Given the description of an element on the screen output the (x, y) to click on. 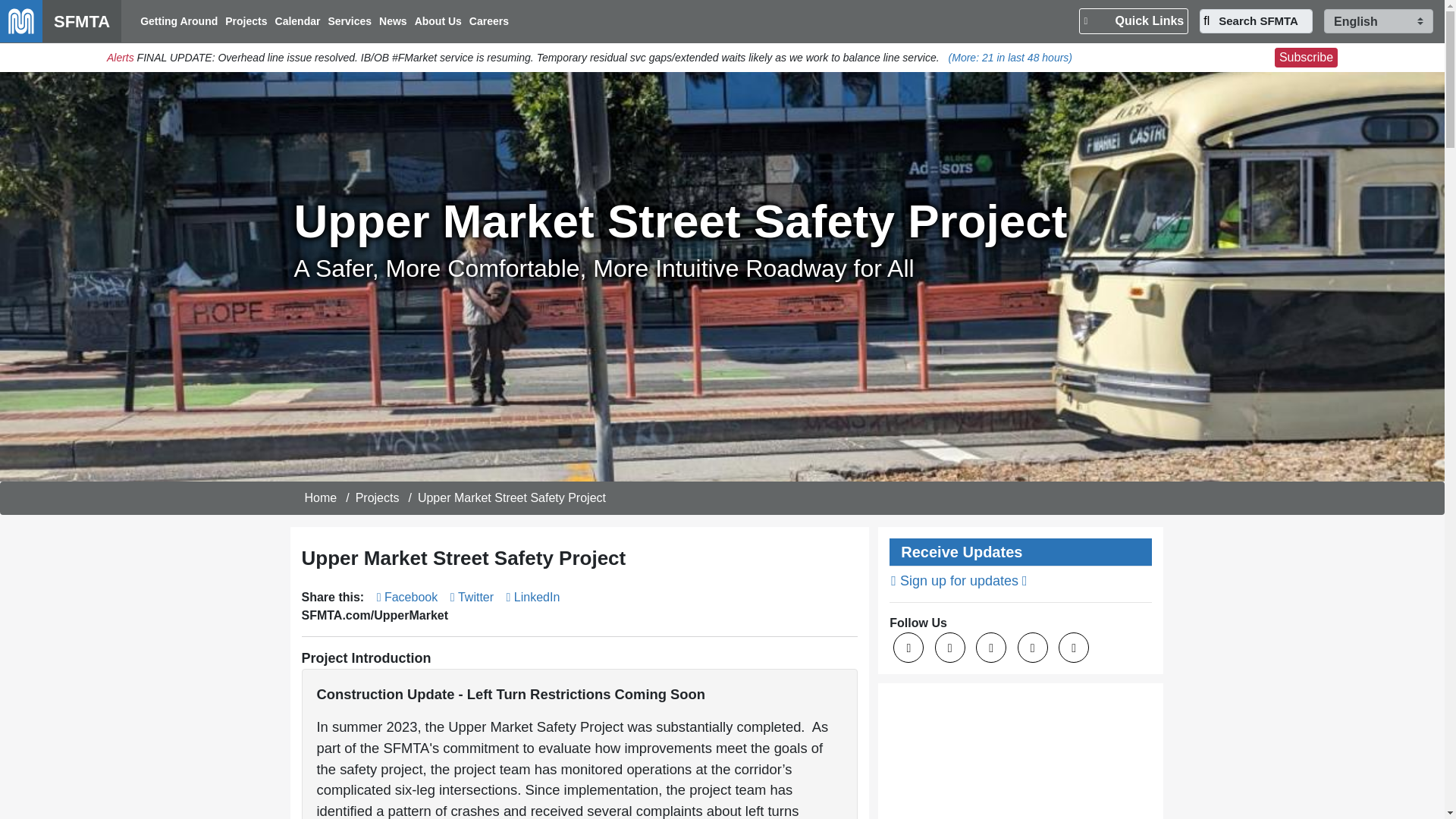
Projects (376, 497)
SFMTA (60, 21)
Services (349, 21)
Getting Around (178, 21)
Home (320, 497)
News (392, 21)
Subscribe (1306, 57)
Home (60, 21)
Projects (245, 21)
Facebook (407, 596)
About Us (437, 21)
Calendar (297, 21)
LinkedIn (533, 596)
Careers (488, 21)
Skip to main content (722, 1)
